Given the description of an element on the screen output the (x, y) to click on. 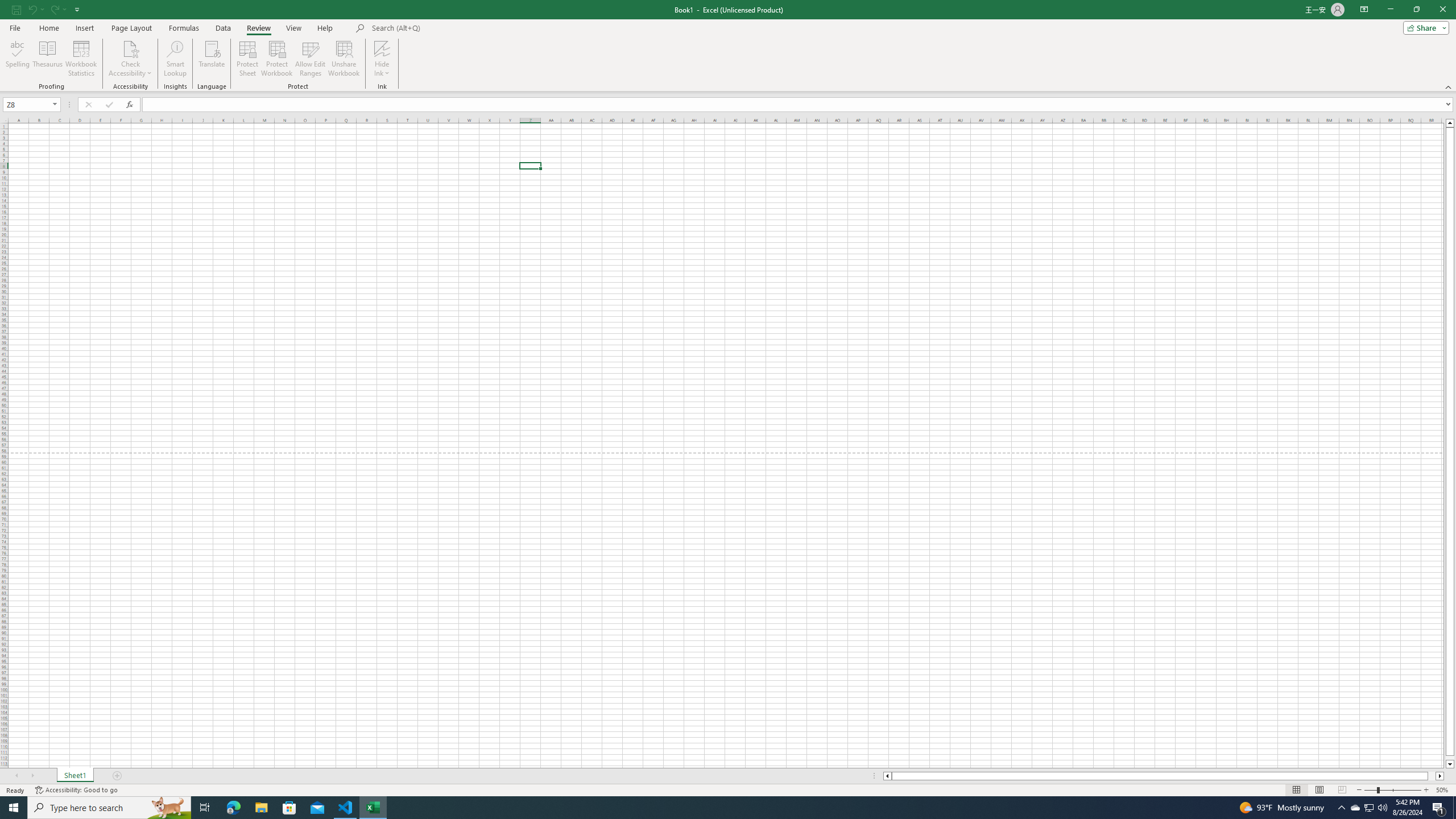
Spelling... (17, 58)
Smart Lookup (175, 58)
Unshare Workbook (344, 58)
